Given the description of an element on the screen output the (x, y) to click on. 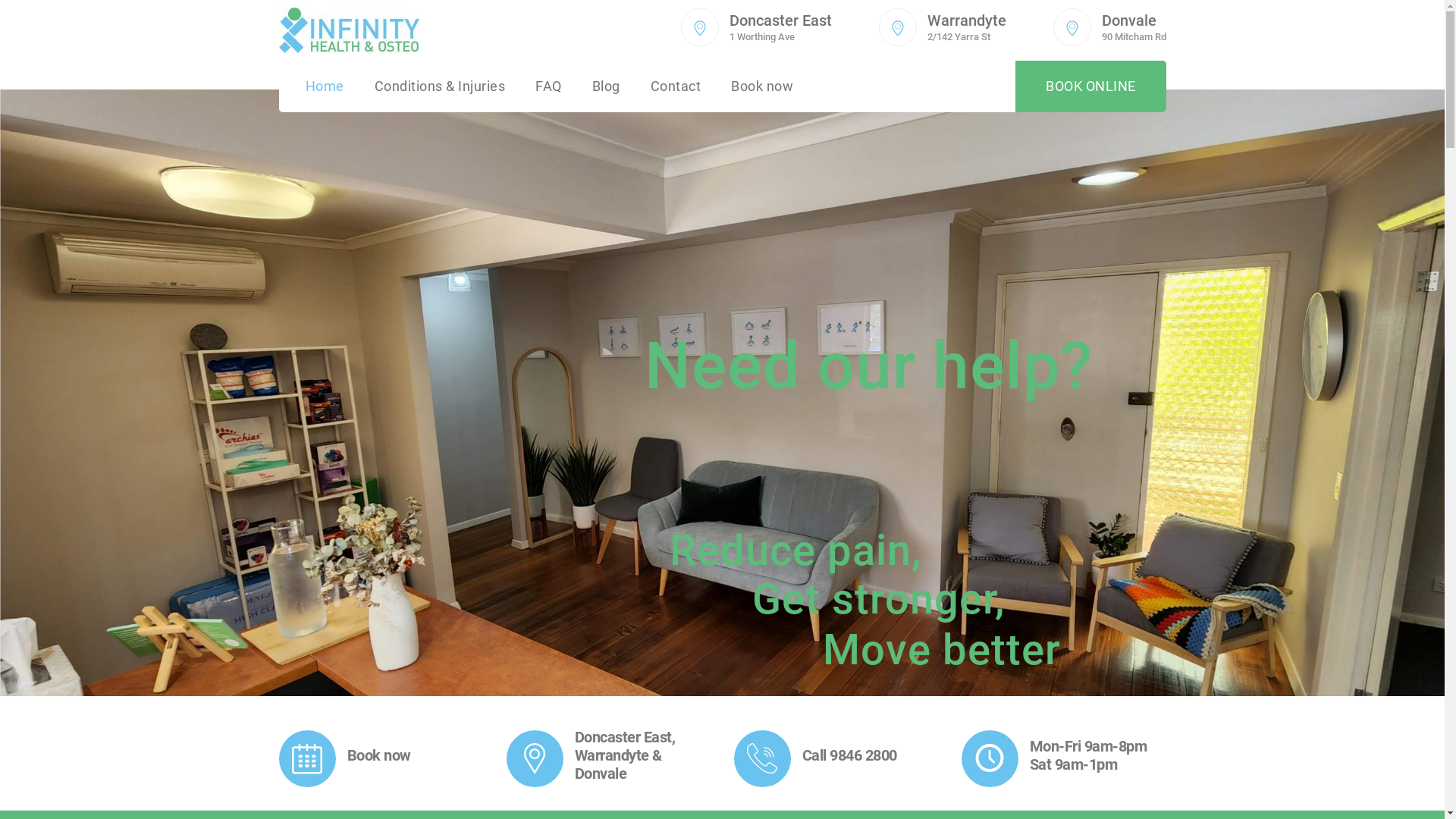
Conditions & Injuries Element type: text (439, 86)
Warrandyte
2/142 Yarra St Element type: text (965, 30)
Doncaster East,
Warrandyte & Donvale Element type: text (624, 755)
Book now Element type: text (762, 86)
Contact Element type: text (675, 86)
Blog Element type: text (605, 86)
FAQ Element type: text (548, 86)
Infinity Health and Osteo Element type: hover (349, 30)
Doncaster East
1 Worthing Ave Element type: text (780, 30)
Infinity Health and Osteo Element type: hover (349, 30)
BOOK ONLINE Element type: text (1090, 86)
Book now Element type: text (379, 755)
Home Element type: text (323, 86)
Call 9846 2800 Element type: text (849, 755)
Donvale
90 Mitcham Rd Element type: text (1133, 30)
